Given the description of an element on the screen output the (x, y) to click on. 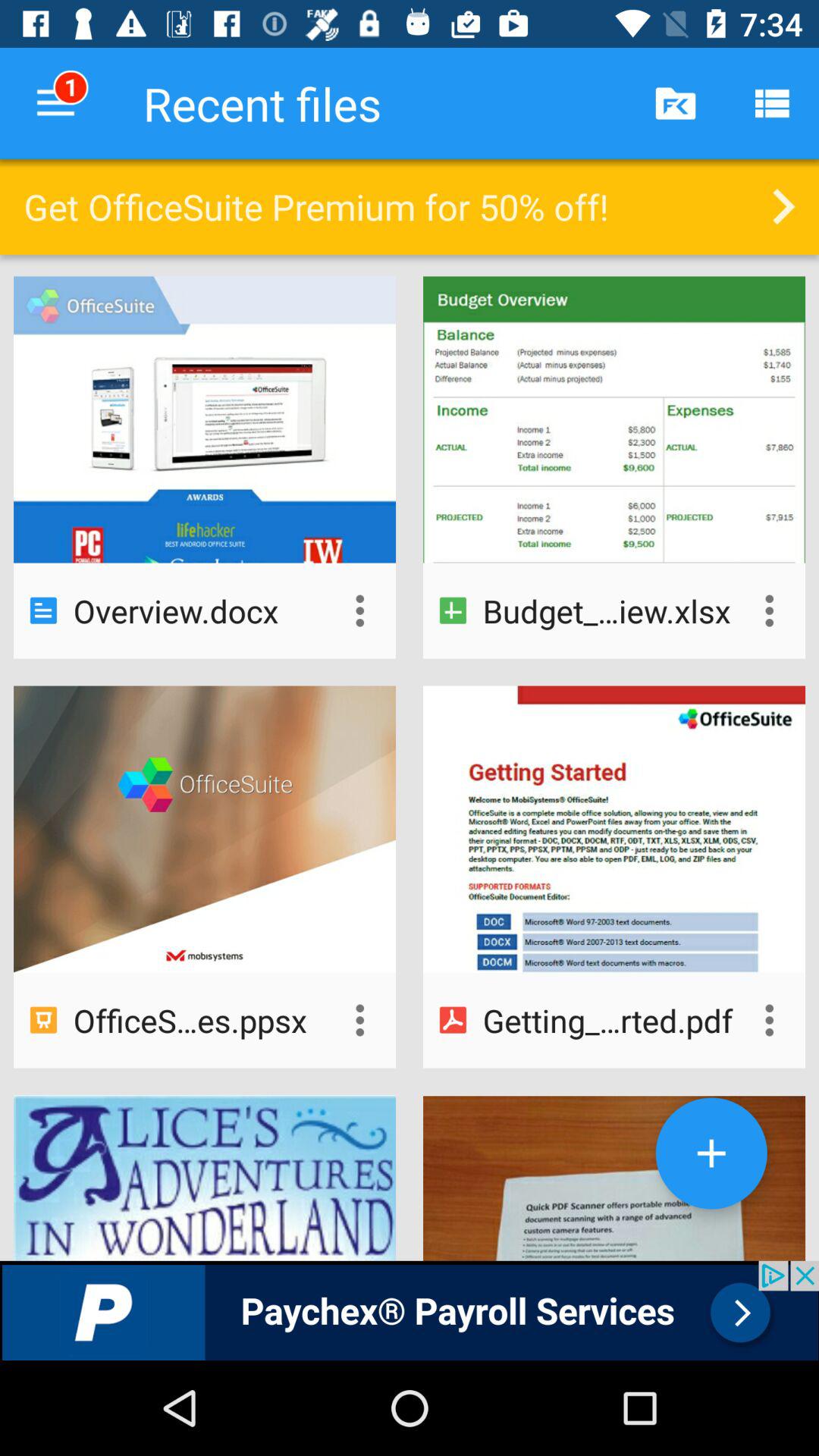
see options for this document (769, 1020)
